Given the description of an element on the screen output the (x, y) to click on. 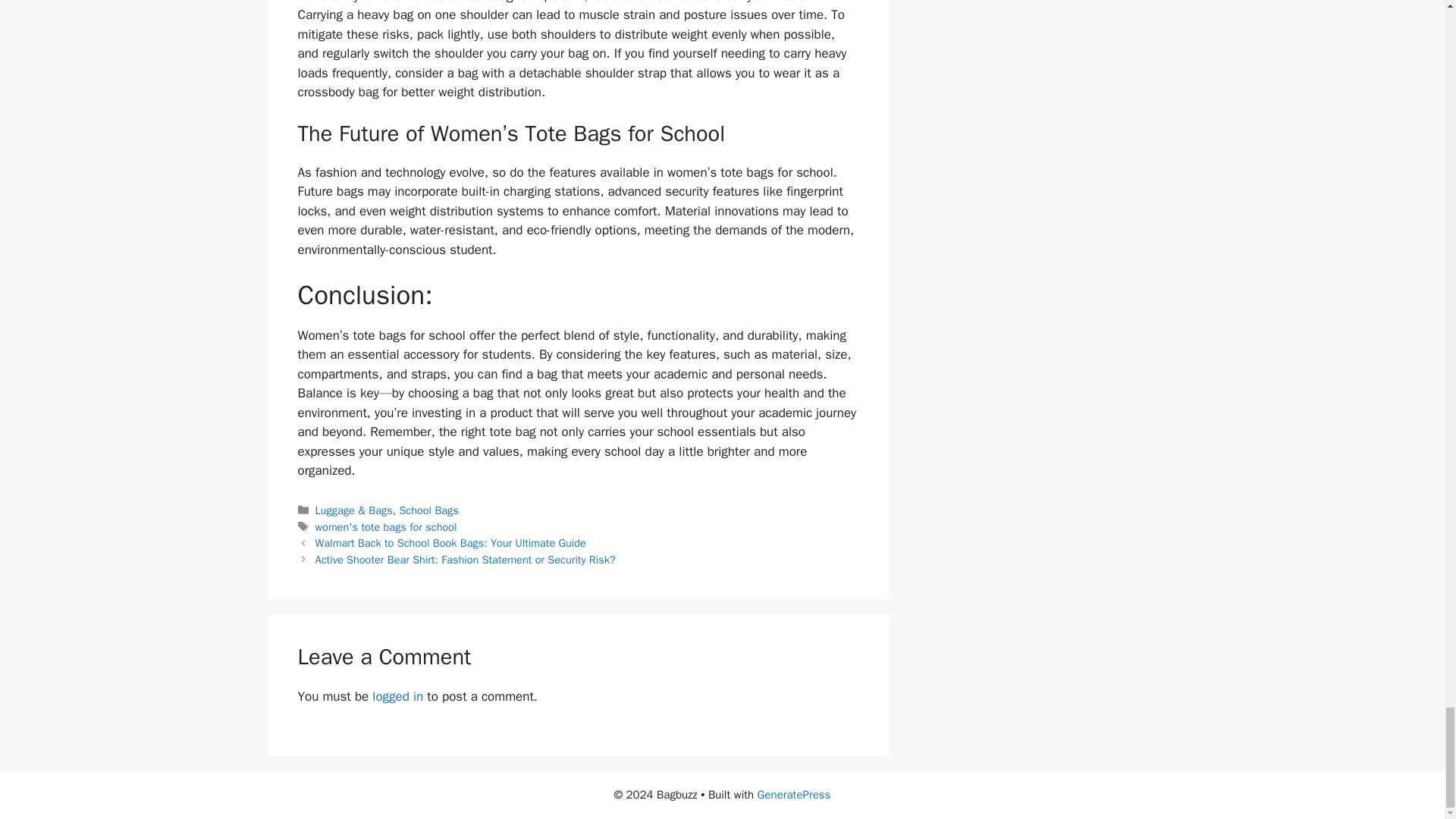
School Bags (428, 509)
logged in (397, 696)
Walmart Back to School Book Bags: Your Ultimate Guide (450, 542)
women's tote bags for school (386, 526)
